Given the description of an element on the screen output the (x, y) to click on. 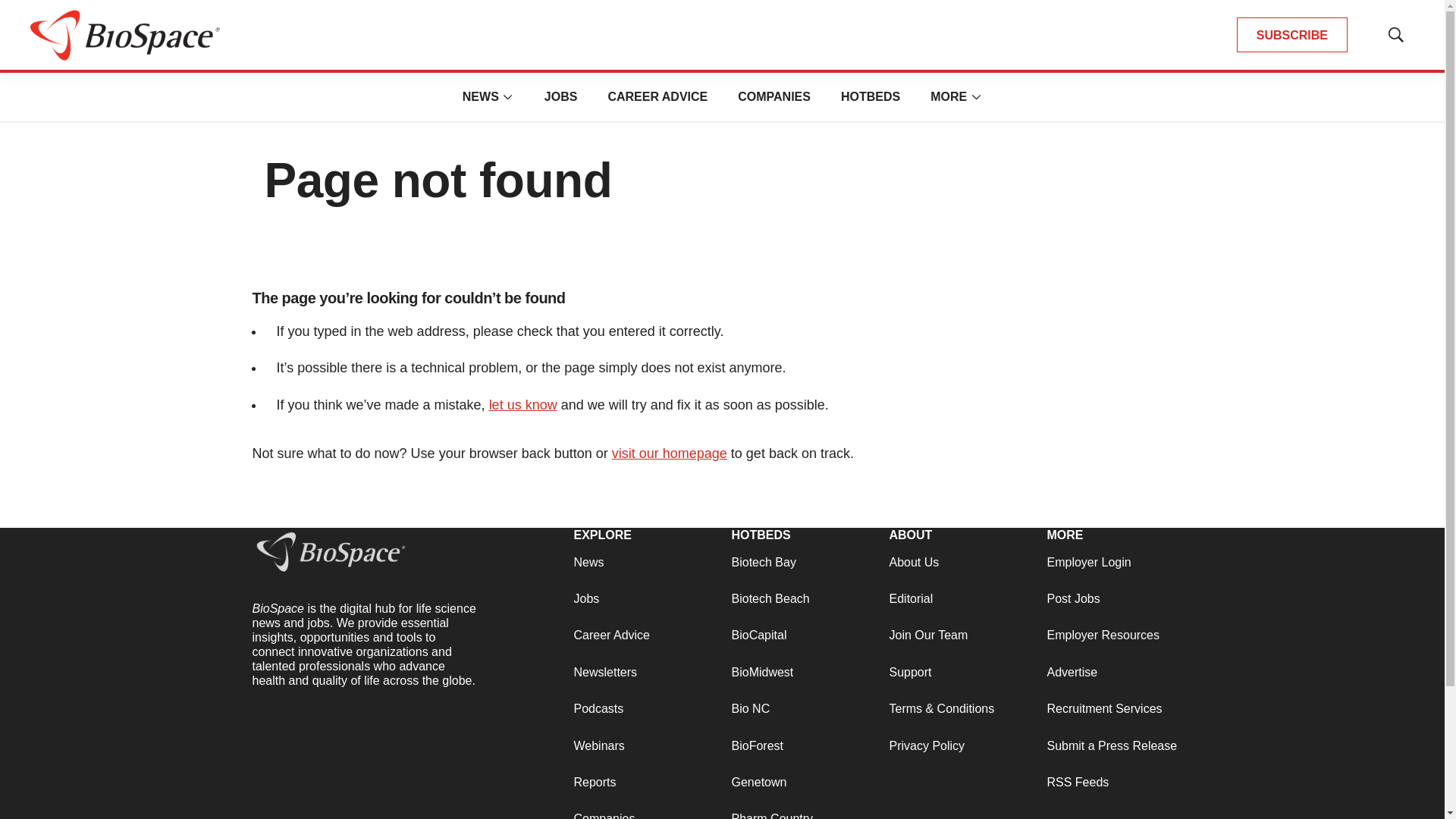
NEWS (481, 96)
SUBSCRIBE (1292, 34)
Show Search (1395, 34)
